Given the description of an element on the screen output the (x, y) to click on. 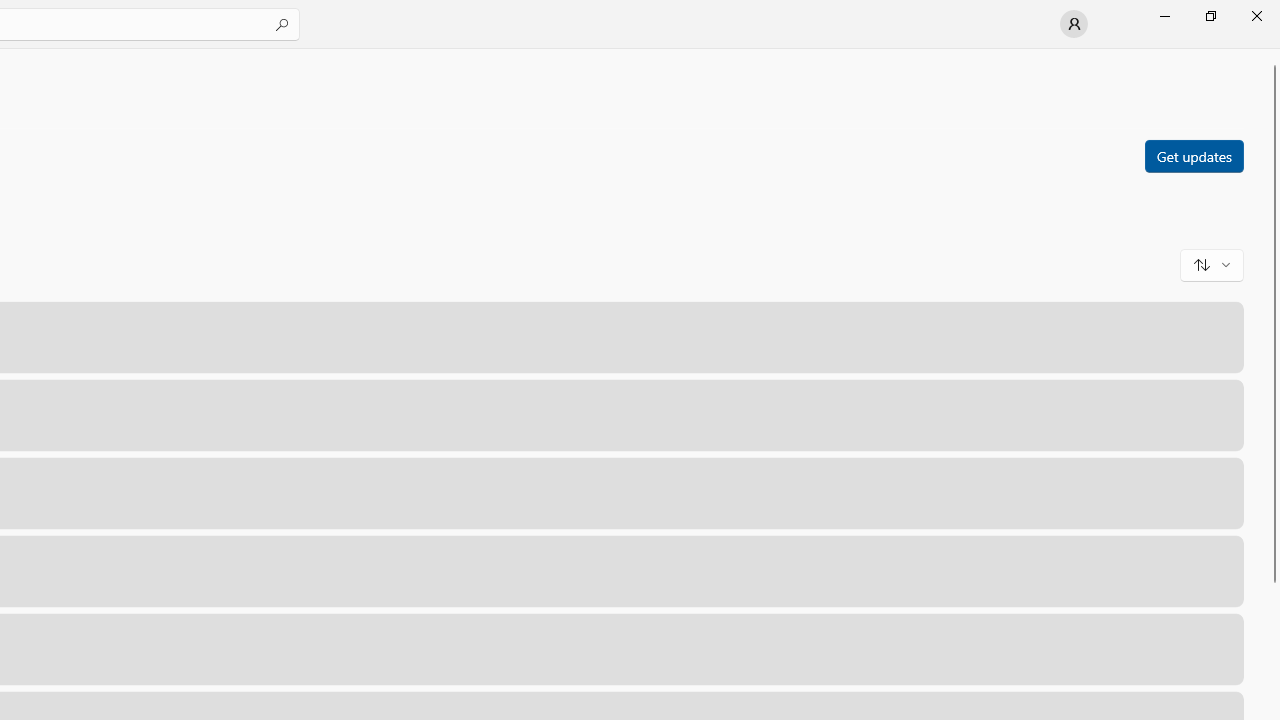
Get updates (1193, 155)
Sort and filter (1212, 263)
Restore Microsoft Store (1210, 15)
More options (1215, 648)
Open (1123, 648)
Close Microsoft Store (1256, 15)
Minimize Microsoft Store (1164, 15)
User profile (1073, 24)
